Given the description of an element on the screen output the (x, y) to click on. 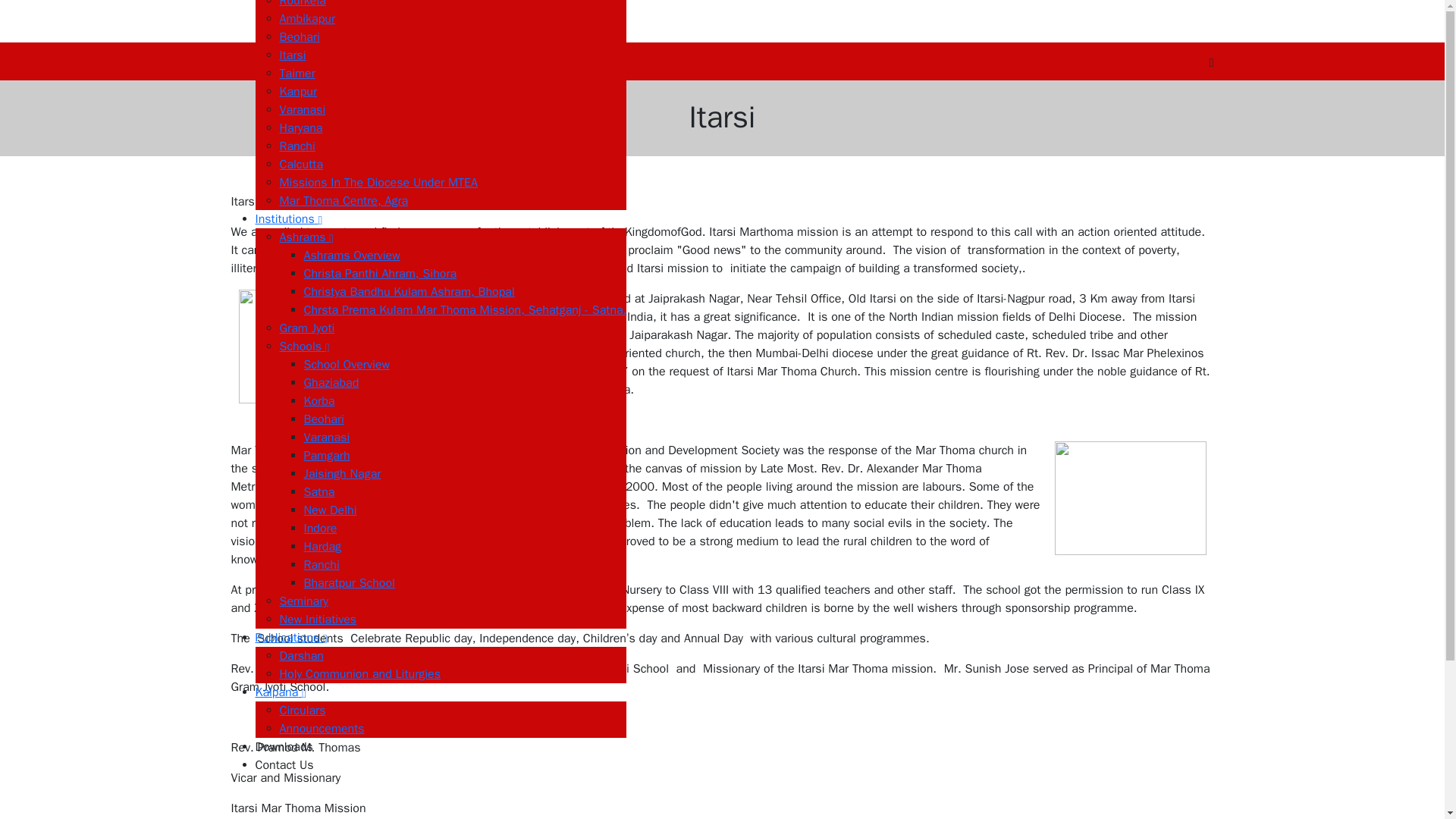
Beohari (298, 37)
Ambikapur (306, 18)
Contact Us (440, 764)
Downloads (440, 746)
Rourkela (301, 4)
